Given the description of an element on the screen output the (x, y) to click on. 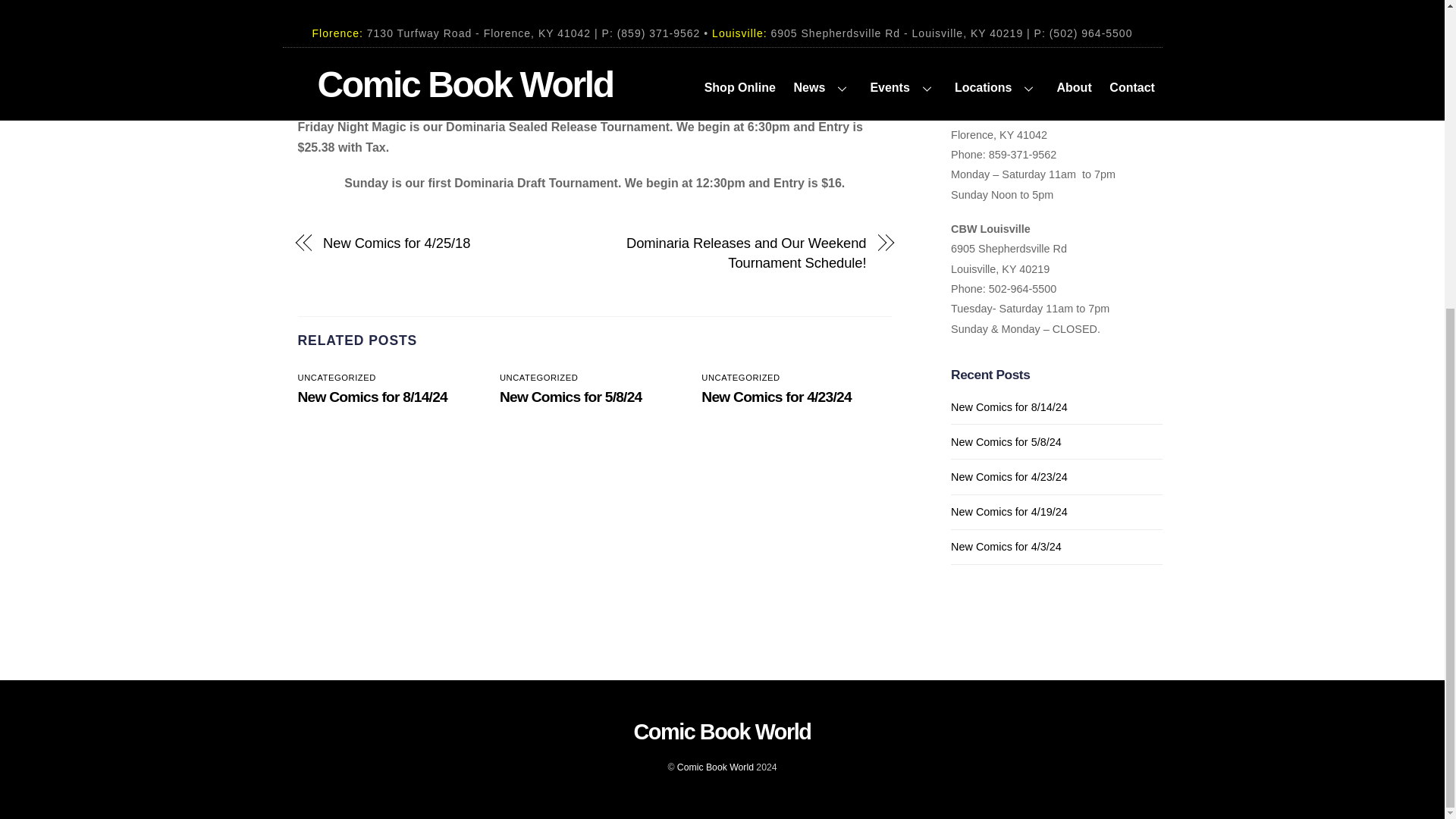
UNCATEGORIZED (538, 377)
Comic Book World (721, 731)
Comic Book World (721, 731)
Dominaria Releases and Our Weekend Tournament Schedule! (739, 253)
UNCATEGORIZED (336, 377)
Comic Book World (715, 767)
UNCATEGORIZED (739, 377)
